Given the description of an element on the screen output the (x, y) to click on. 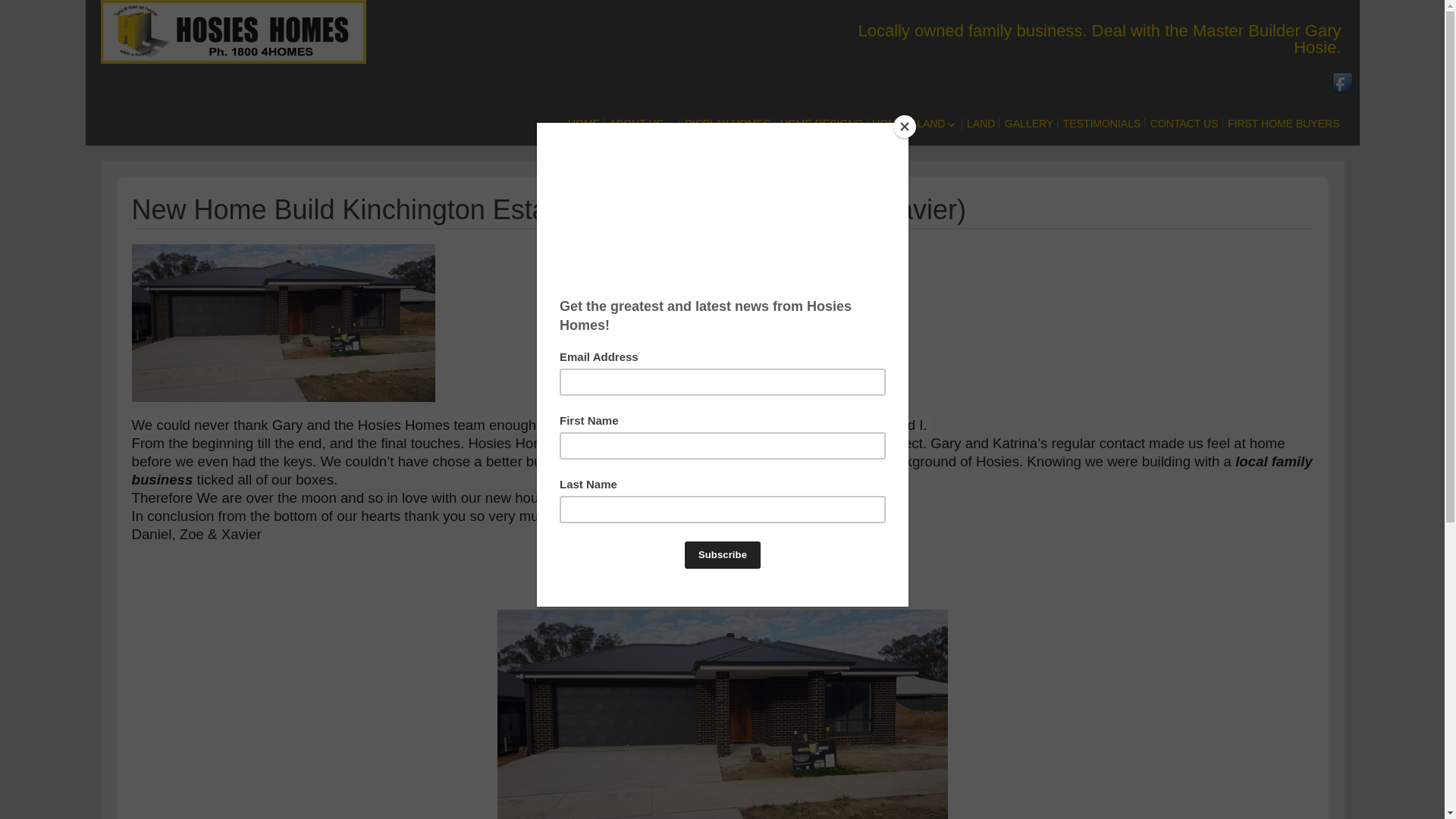
FIRST HOME BUYERS Element type: text (1283, 123)
HOSIES HOMES Element type: text (539, 12)
HOME Element type: text (583, 123)
TESTIMONIALS Element type: text (1101, 123)
HOME & LAND Element type: text (914, 124)
LAND Element type: text (980, 123)
DISPLAY HOMES Element type: text (727, 123)
OUR HOME YOUR LAND Element type: text (955, 156)
ABOUT US Element type: text (641, 124)
MEET OUR TEAM Element type: text (692, 156)
HOME DESIGNS Element type: text (821, 123)
GALLERY Element type: text (1028, 123)
Hosies Homes Element type: hover (175, 31)
facebook Element type: hover (1343, 81)
CONTACT US Element type: text (1184, 123)
